Given the description of an element on the screen output the (x, y) to click on. 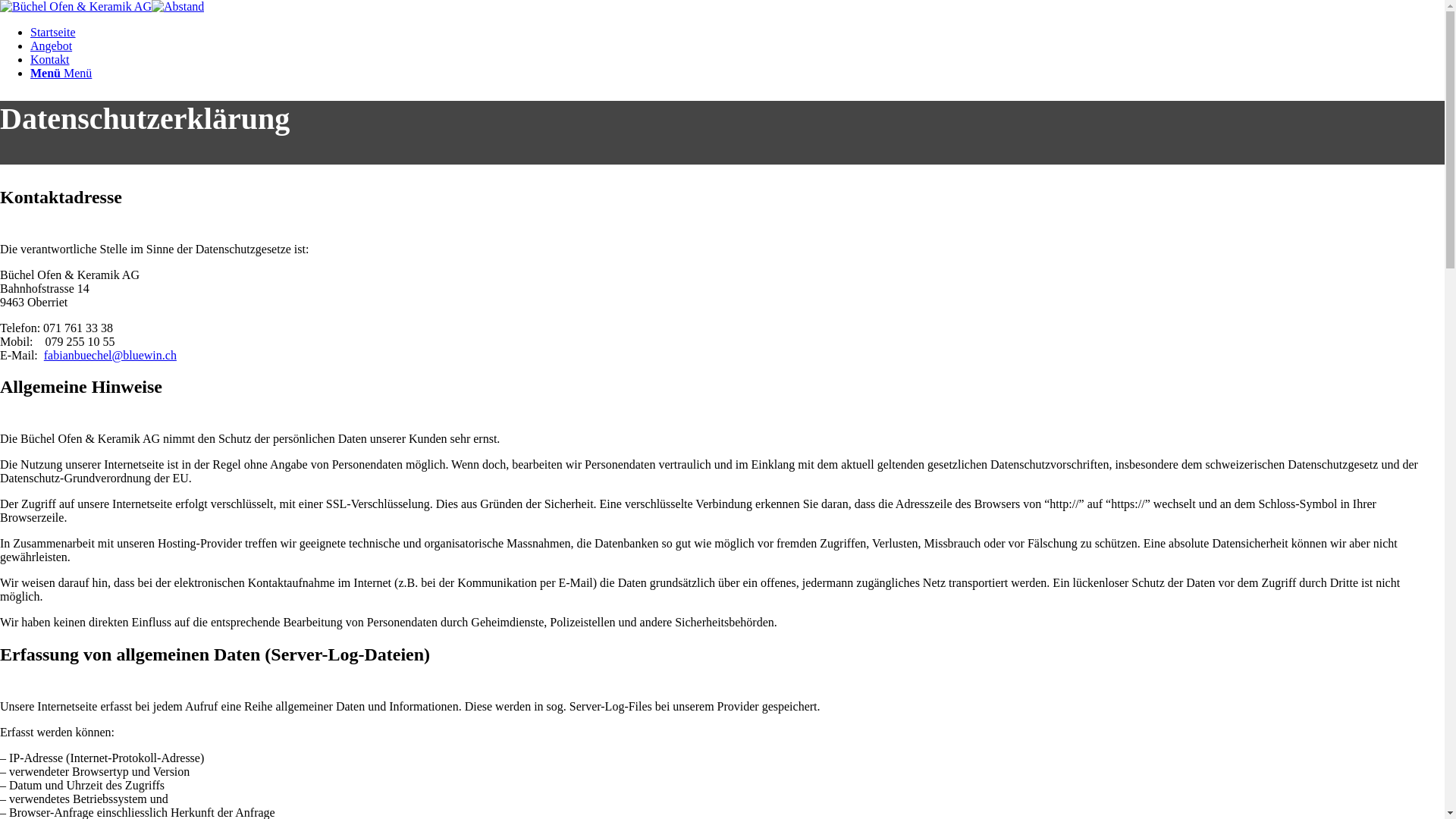
Logo_Buechel_RahmenWeiss Element type: hover (101, 6)
abstand_30pt Element type: hover (177, 6)
Startseite Element type: text (52, 31)
Logo_Buechel_RahmenWeiss Element type: hover (75, 6)
Kontakt Element type: text (49, 59)
fabianbuechel@bluewin.ch Element type: text (109, 354)
Angebot Element type: text (51, 45)
